Given the description of an element on the screen output the (x, y) to click on. 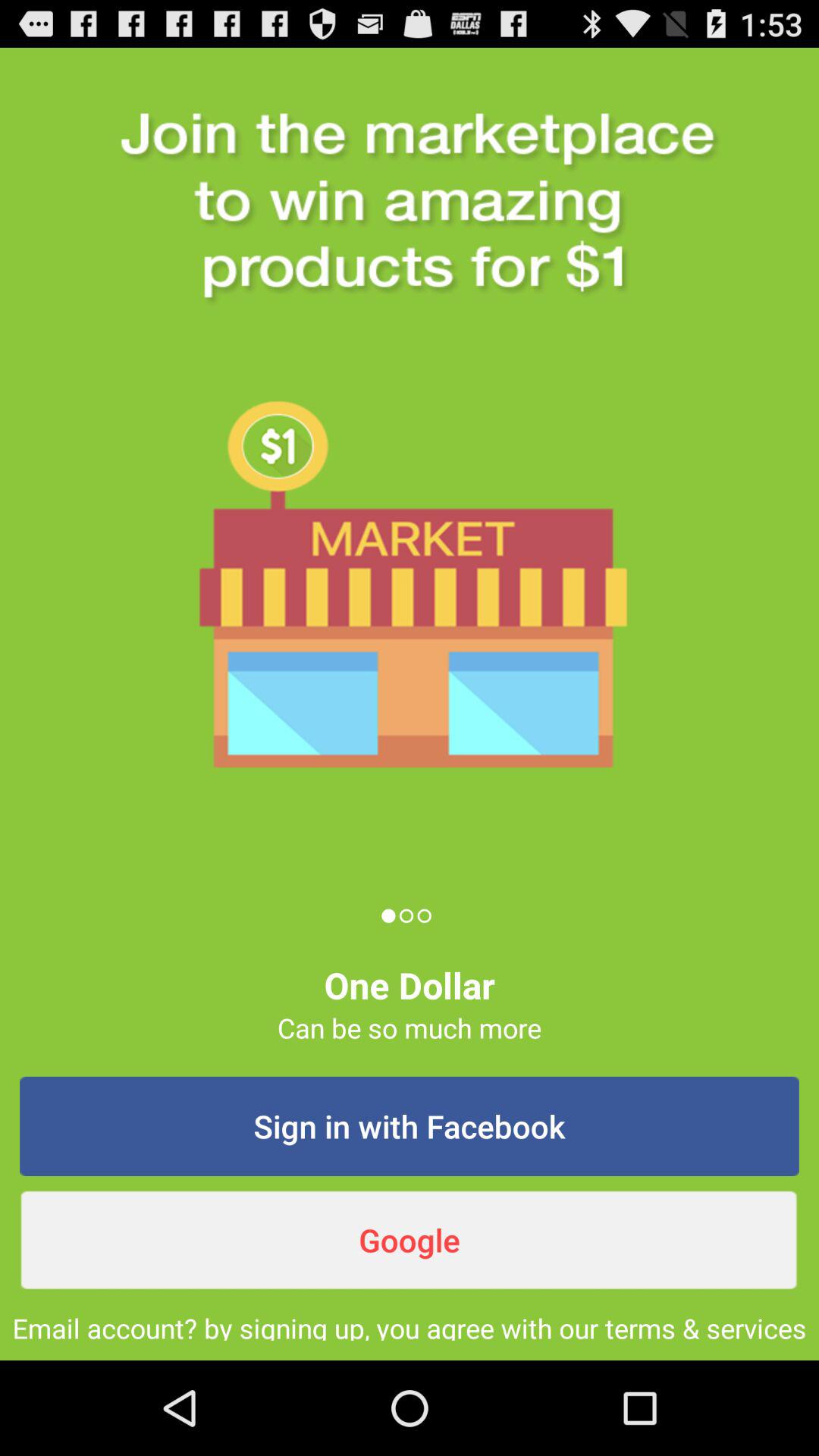
open google item (409, 1239)
